Given the description of an element on the screen output the (x, y) to click on. 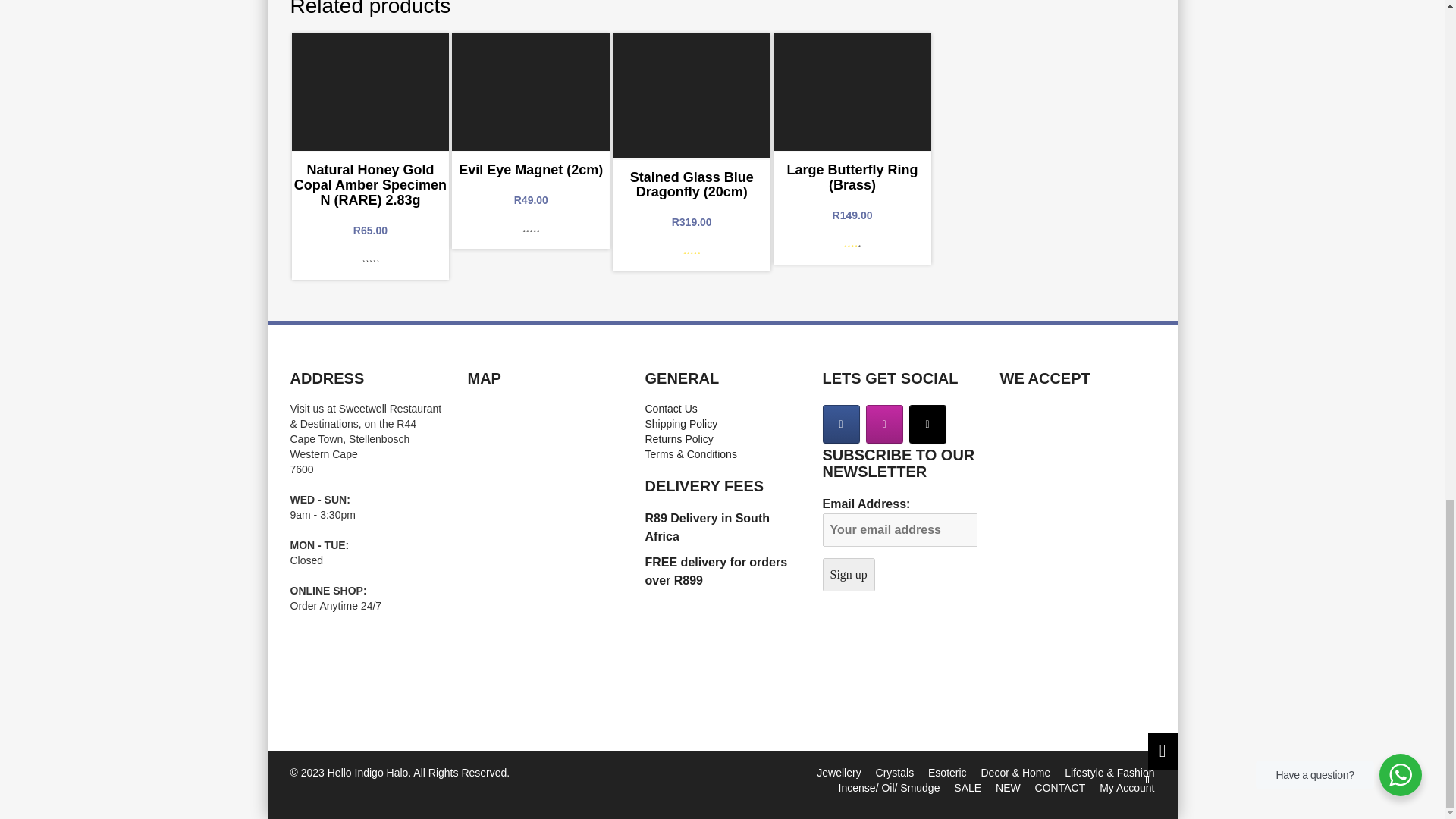
Follow us on instagram (884, 423)
Sign up (848, 574)
Like our Facebook Page (840, 423)
